Given the description of an element on the screen output the (x, y) to click on. 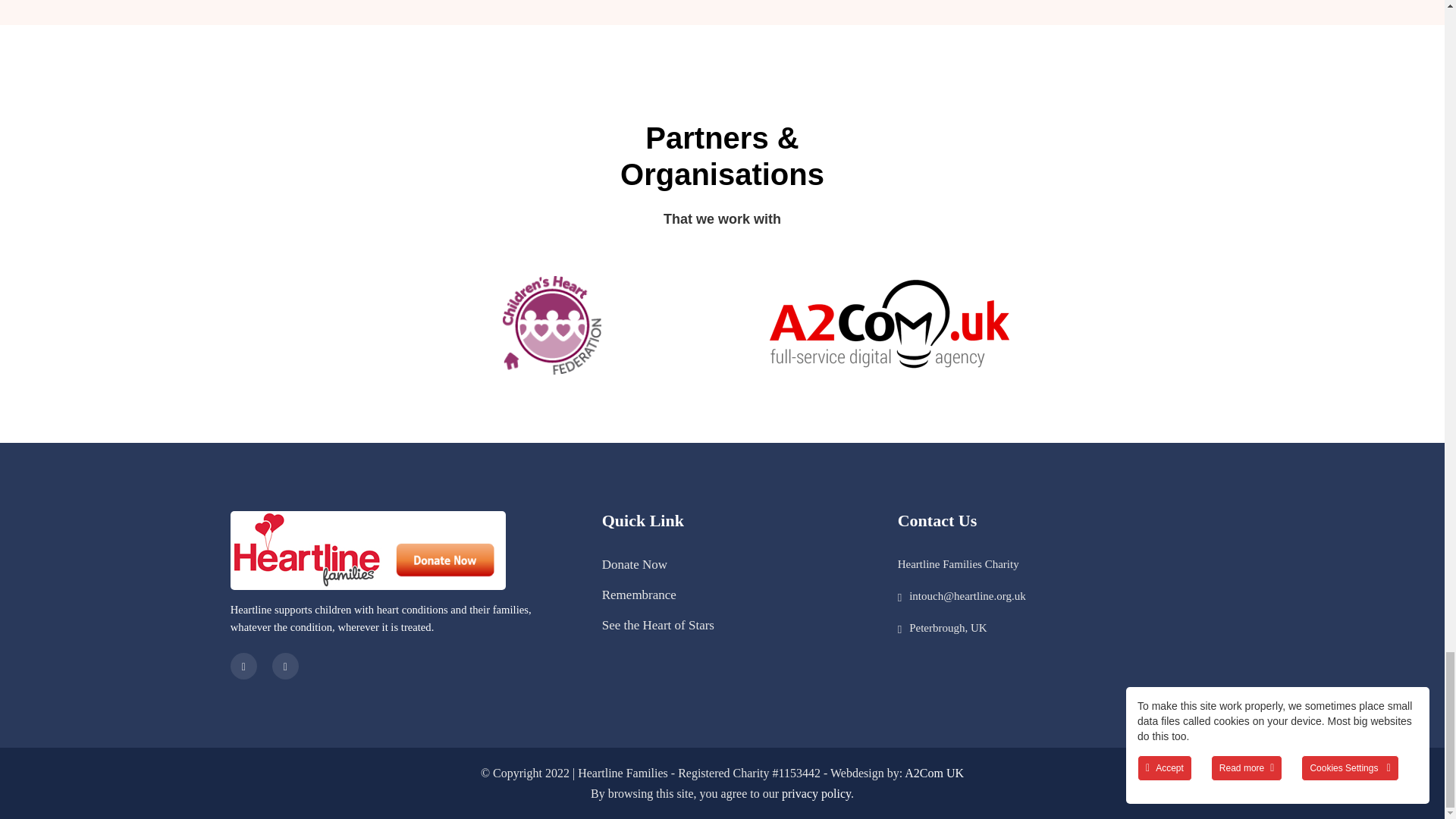
Donate Now (634, 564)
See the Heart of Stars (658, 625)
Remembrance (639, 594)
A2Com UK (933, 772)
privacy policy (815, 793)
